Given the description of an element on the screen output the (x, y) to click on. 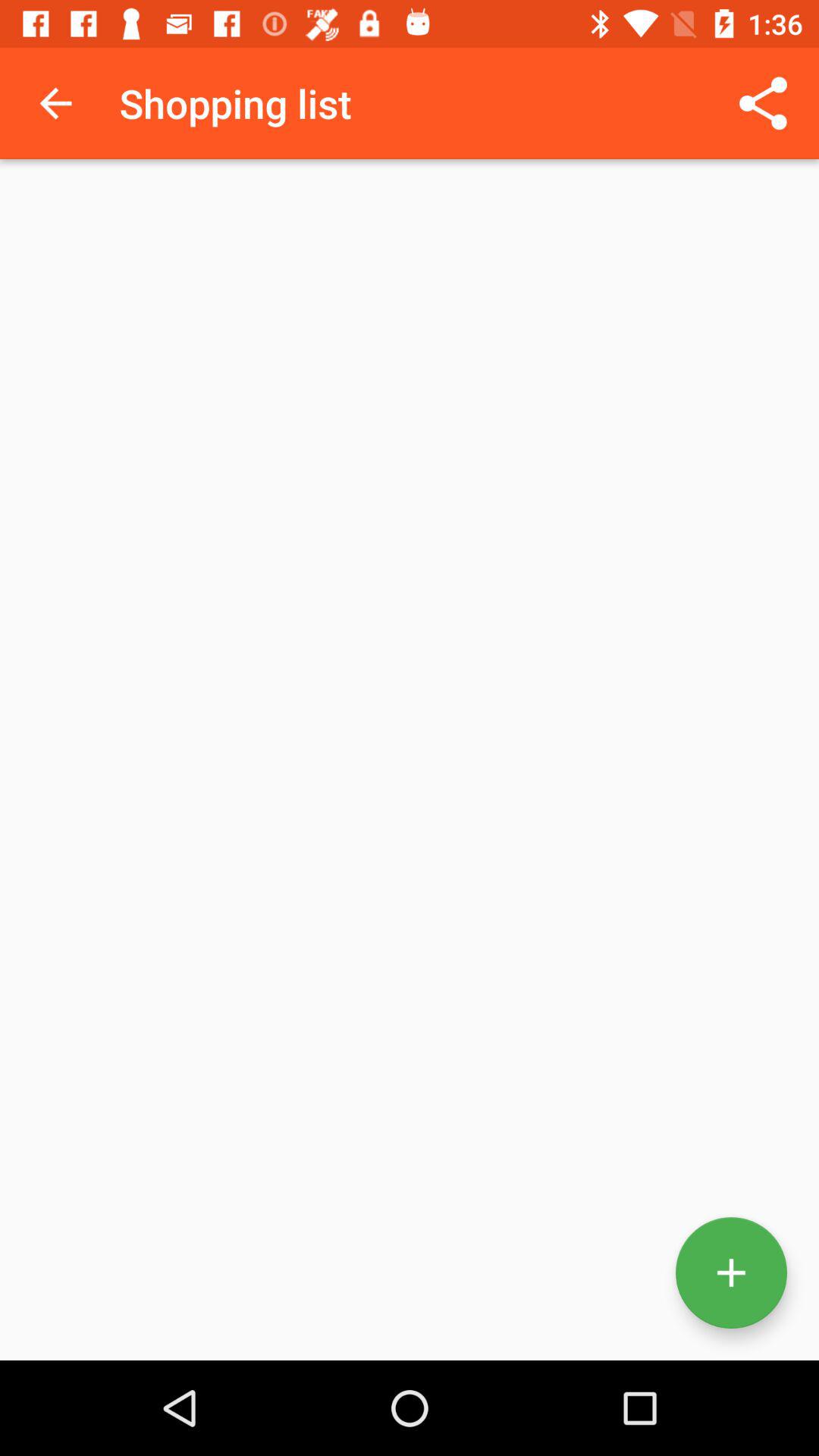
turn on icon at the top right corner (763, 103)
